Given the description of an element on the screen output the (x, y) to click on. 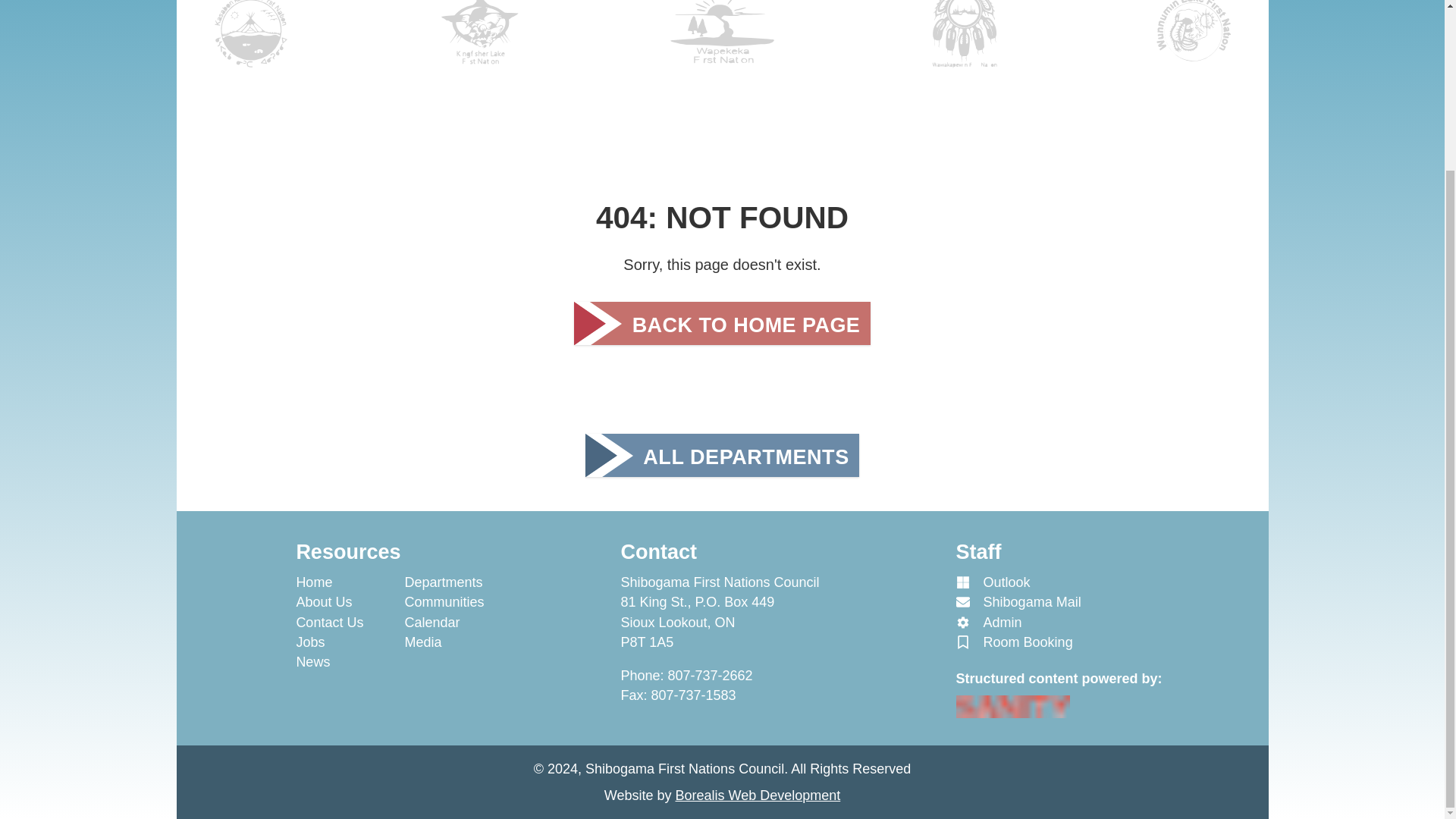
All Departments (722, 455)
Kingfisher Lake First Nation (480, 42)
Wapekeka First Nation (721, 42)
Wawakapewin First Nation (964, 42)
Kasabonika Lake First Nation (251, 42)
Wunnumin Lake First Nation (1193, 42)
Back to Home Page (721, 323)
